Given the description of an element on the screen output the (x, y) to click on. 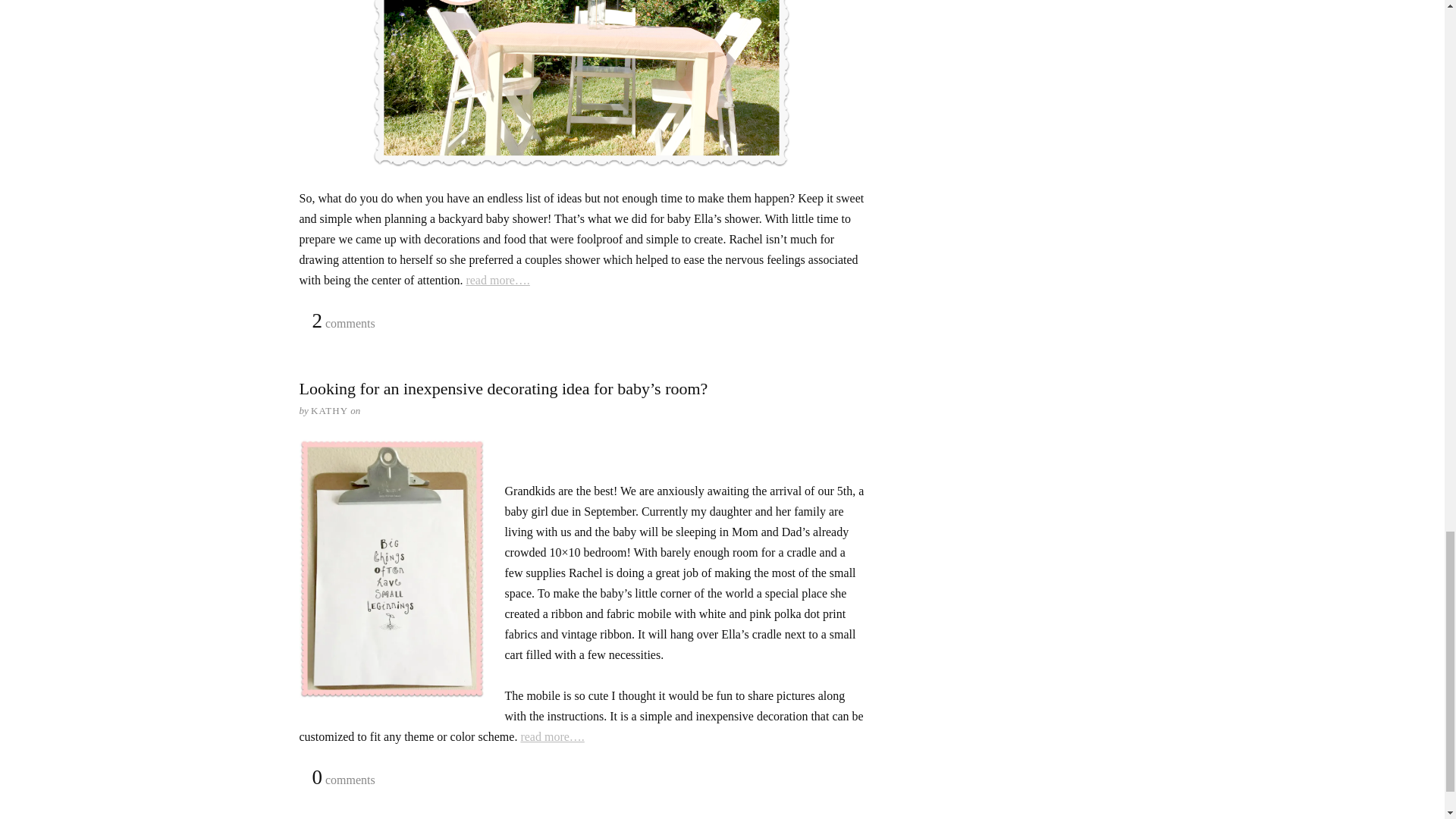
0 comments (342, 778)
2 comments (342, 322)
